Given the description of an element on the screen output the (x, y) to click on. 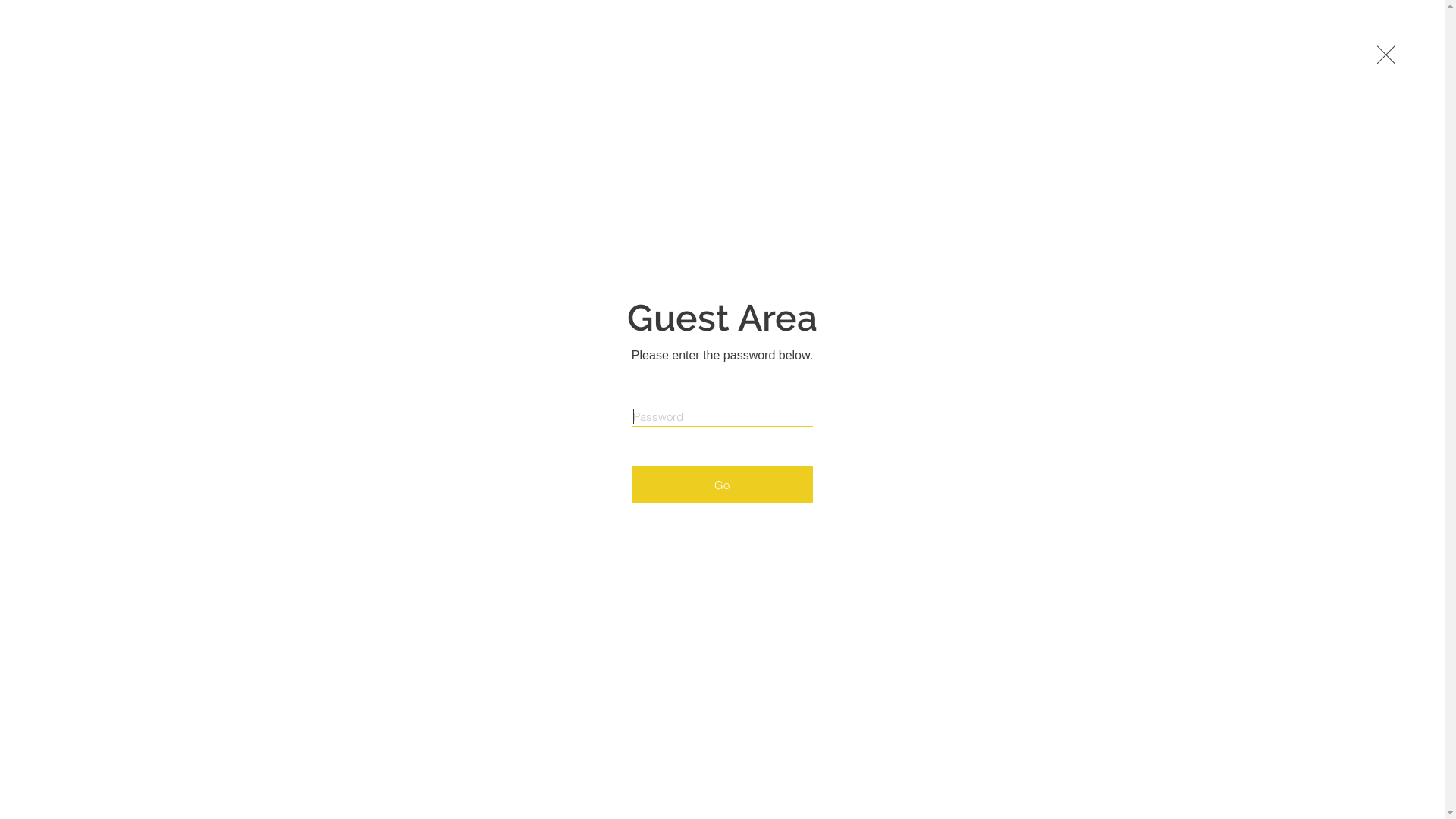
Go Element type: text (721, 484)
